Given the description of an element on the screen output the (x, y) to click on. 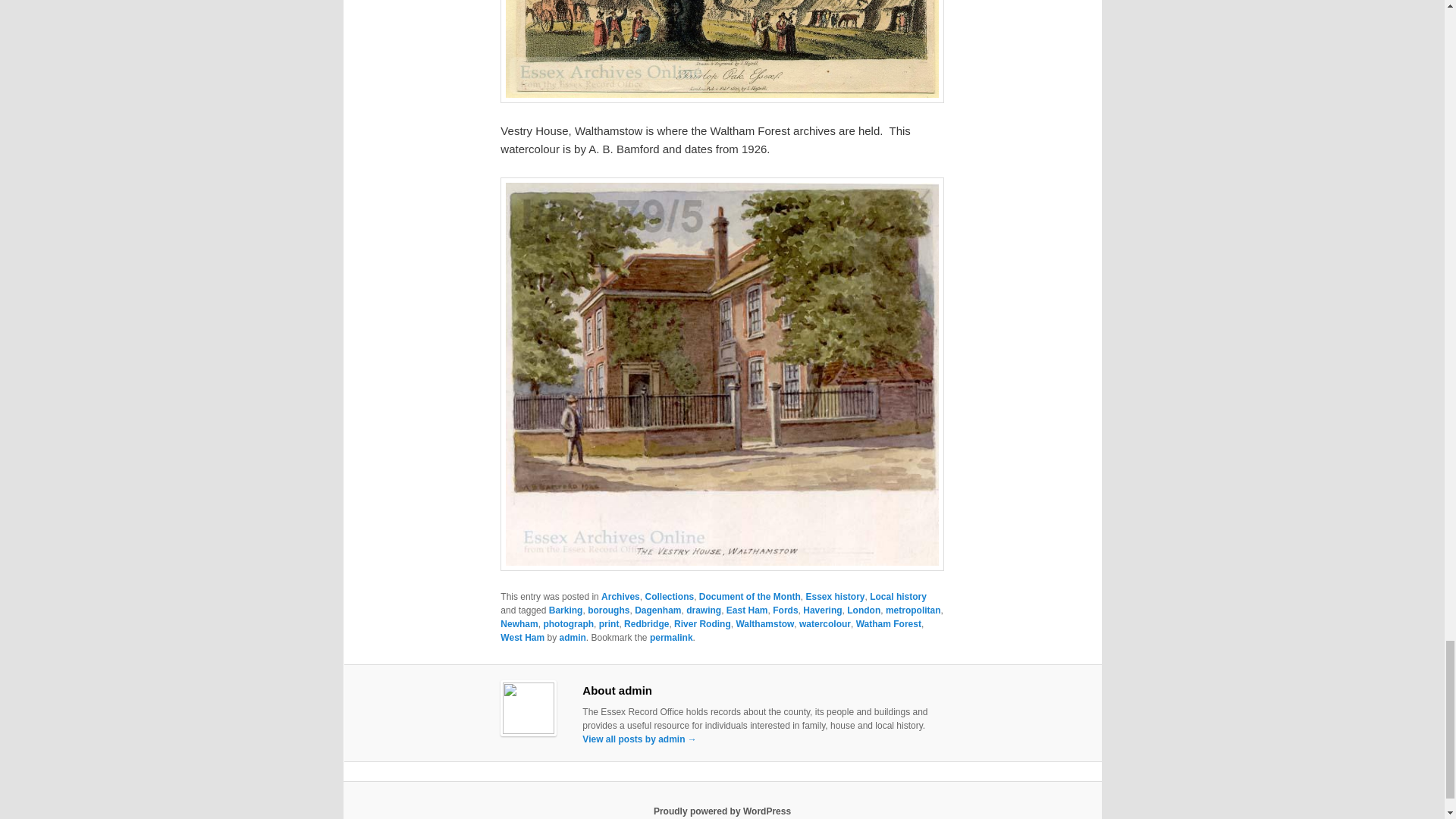
boroughs (608, 610)
Semantic Personal Publishing Platform (721, 810)
Local history (897, 596)
Document of the Month (749, 596)
Archives (620, 596)
Barking (565, 610)
Collections (669, 596)
Dagenham (657, 610)
Essex history (834, 596)
